Given the description of an element on the screen output the (x, y) to click on. 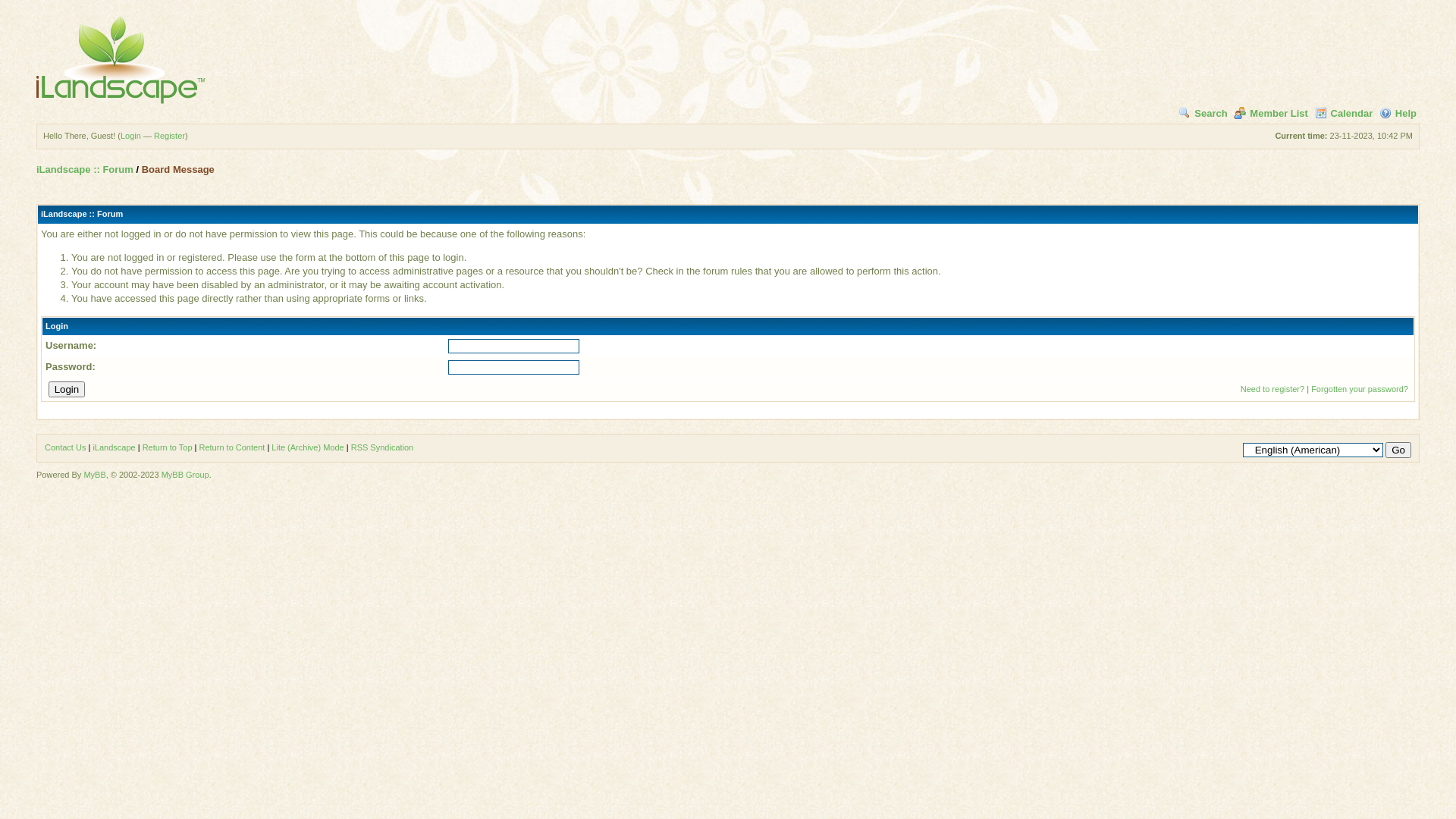
Help Element type: text (1397, 113)
Lite (Archive) Mode Element type: text (307, 446)
Member List Element type: text (1270, 113)
Login Element type: text (130, 135)
iLandscape Element type: text (113, 446)
iLandscape :: Forum Element type: text (84, 169)
Calendar Element type: text (1343, 113)
Search Element type: text (1202, 113)
MyBB Group Element type: text (185, 474)
Return to Top Element type: text (167, 446)
Return to Content Element type: text (231, 446)
RSS Syndication Element type: text (382, 446)
Register Element type: text (169, 135)
Need to register? Element type: text (1272, 388)
MyBB Element type: text (94, 474)
Login Element type: text (66, 389)
Forgotten your password? Element type: text (1359, 388)
Go Element type: text (1398, 450)
iLandscape :: Forum Element type: hover (120, 59)
Contact Us Element type: text (64, 446)
